Given the description of an element on the screen output the (x, y) to click on. 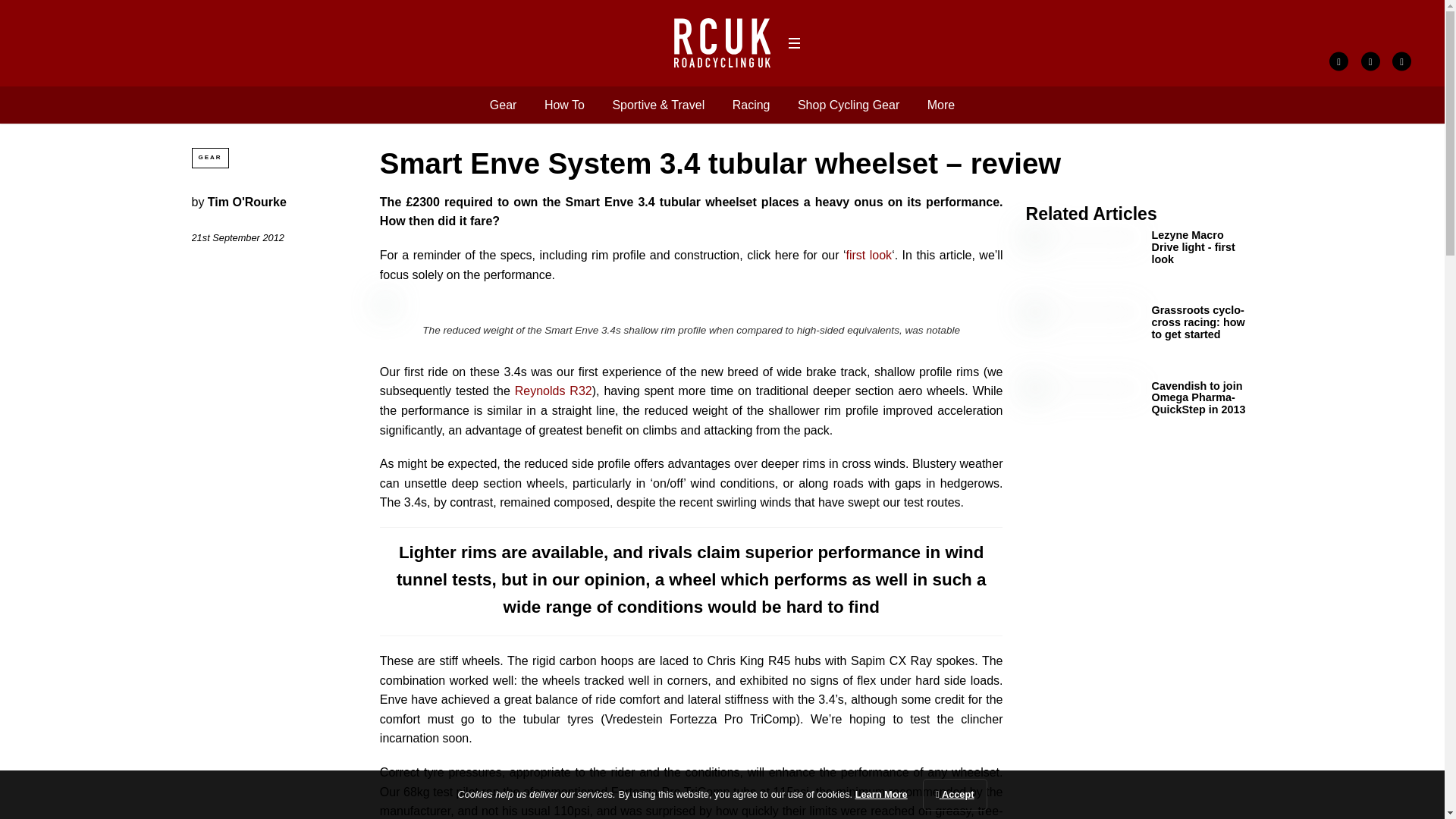
Menu (794, 42)
Shop Cycling Gear (848, 104)
Racing (751, 104)
How To (564, 104)
More (941, 104)
Follow us on Twitter (1370, 61)
Find us on Instagram (1400, 61)
Find us on Facebook (1338, 61)
Gear (502, 104)
